Given the description of an element on the screen output the (x, y) to click on. 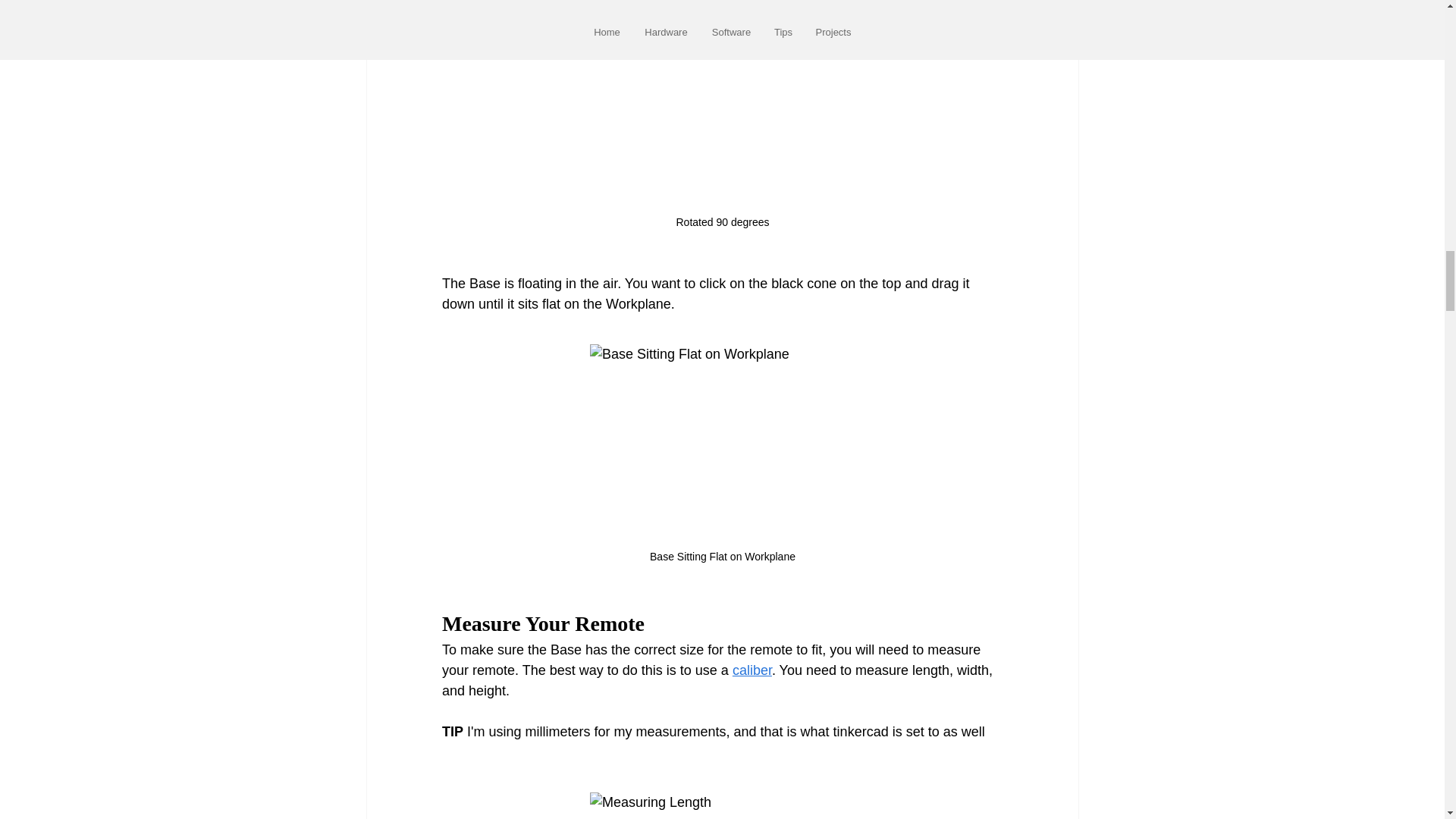
caliber (751, 670)
